Given the description of an element on the screen output the (x, y) to click on. 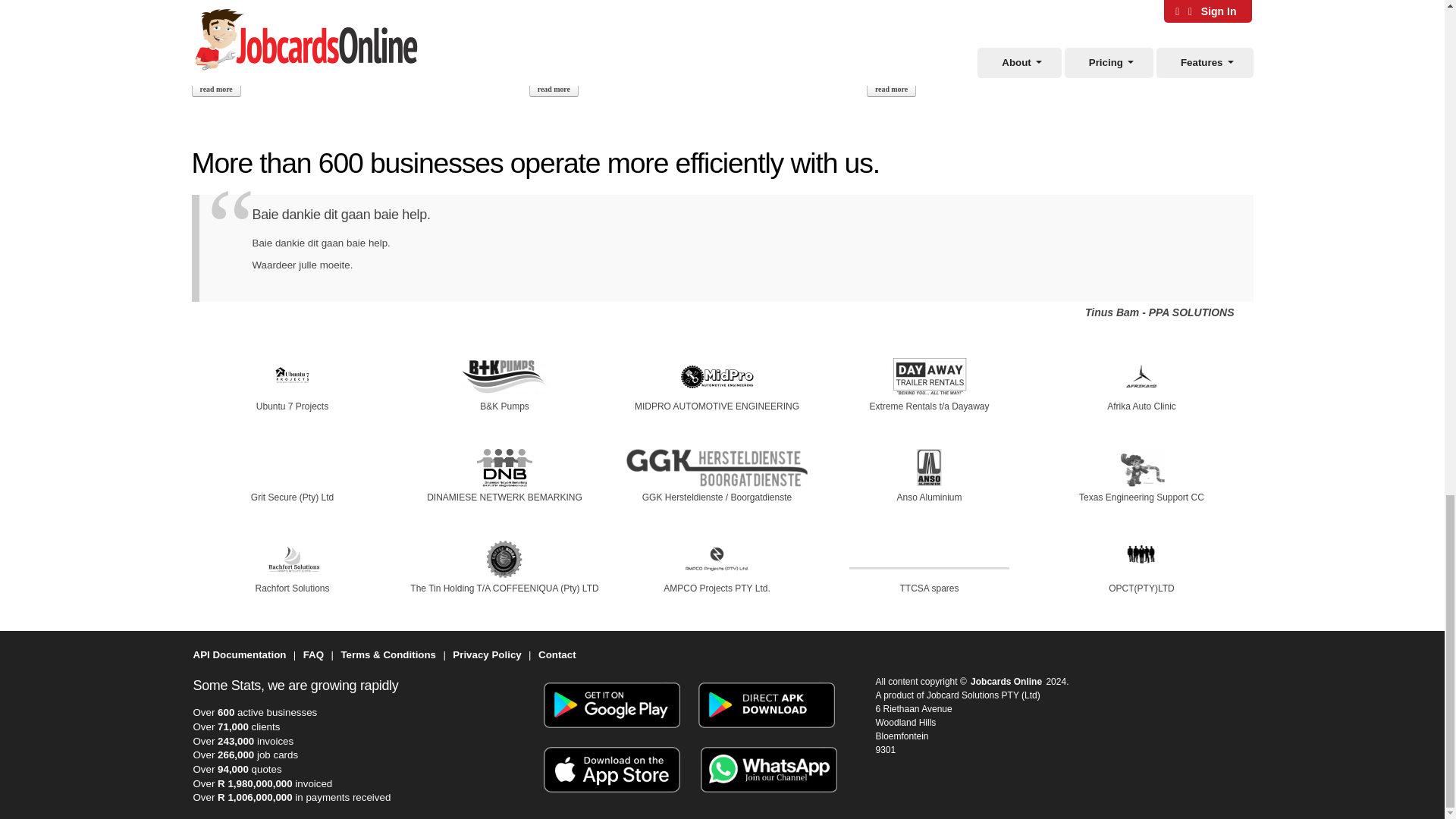
Join our WhatsApp channel (768, 797)
Install Android App (611, 732)
Install iOS App (611, 797)
Or Download APK Directly updated: 2024-06-01 (765, 732)
